Given the description of an element on the screen output the (x, y) to click on. 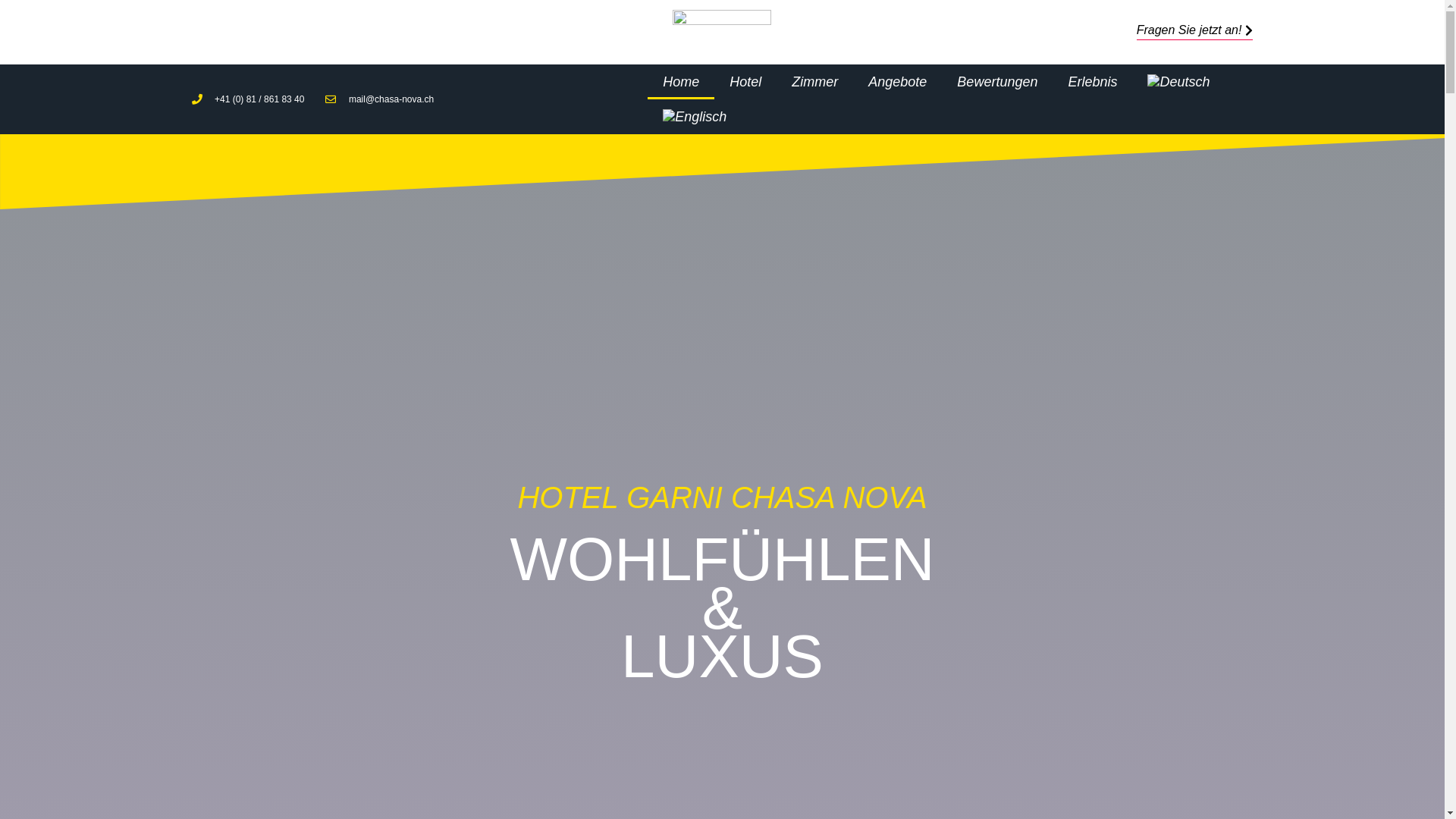
Fragen Sie jetzt an! Element type: text (1194, 31)
Hotel Element type: text (745, 81)
mail@chasa-nova.ch Element type: text (379, 99)
Home Element type: text (680, 81)
Erlebnis Element type: text (1092, 81)
Zimmer Element type: text (814, 81)
Bewertungen Element type: text (996, 81)
Angebote Element type: text (897, 81)
